Given the description of an element on the screen output the (x, y) to click on. 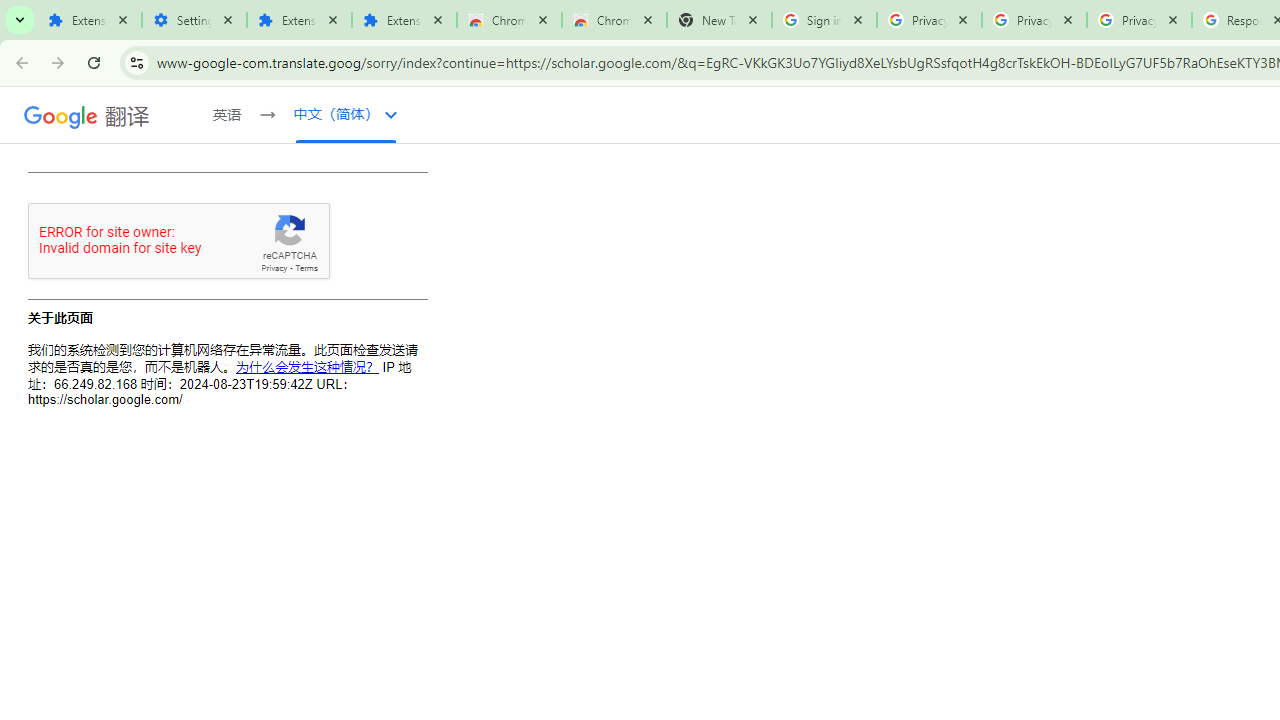
Sign in - Google Accounts (823, 20)
Settings (194, 20)
Extensions (89, 20)
Chrome Web Store (509, 20)
